Given the description of an element on the screen output the (x, y) to click on. 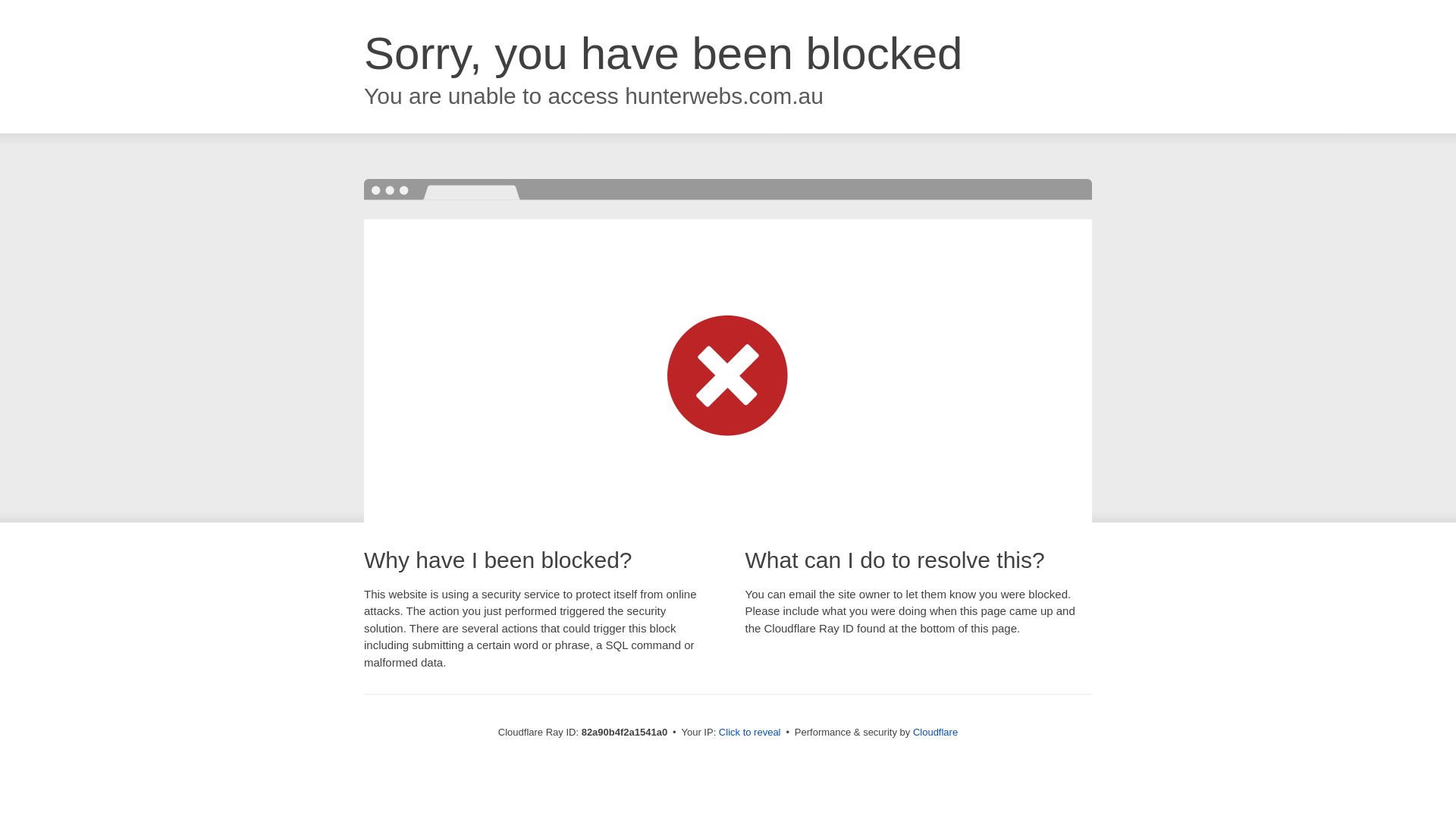
Cloudflare Element type: text (935, 731)
Click to reveal Element type: text (749, 732)
